Given the description of an element on the screen output the (x, y) to click on. 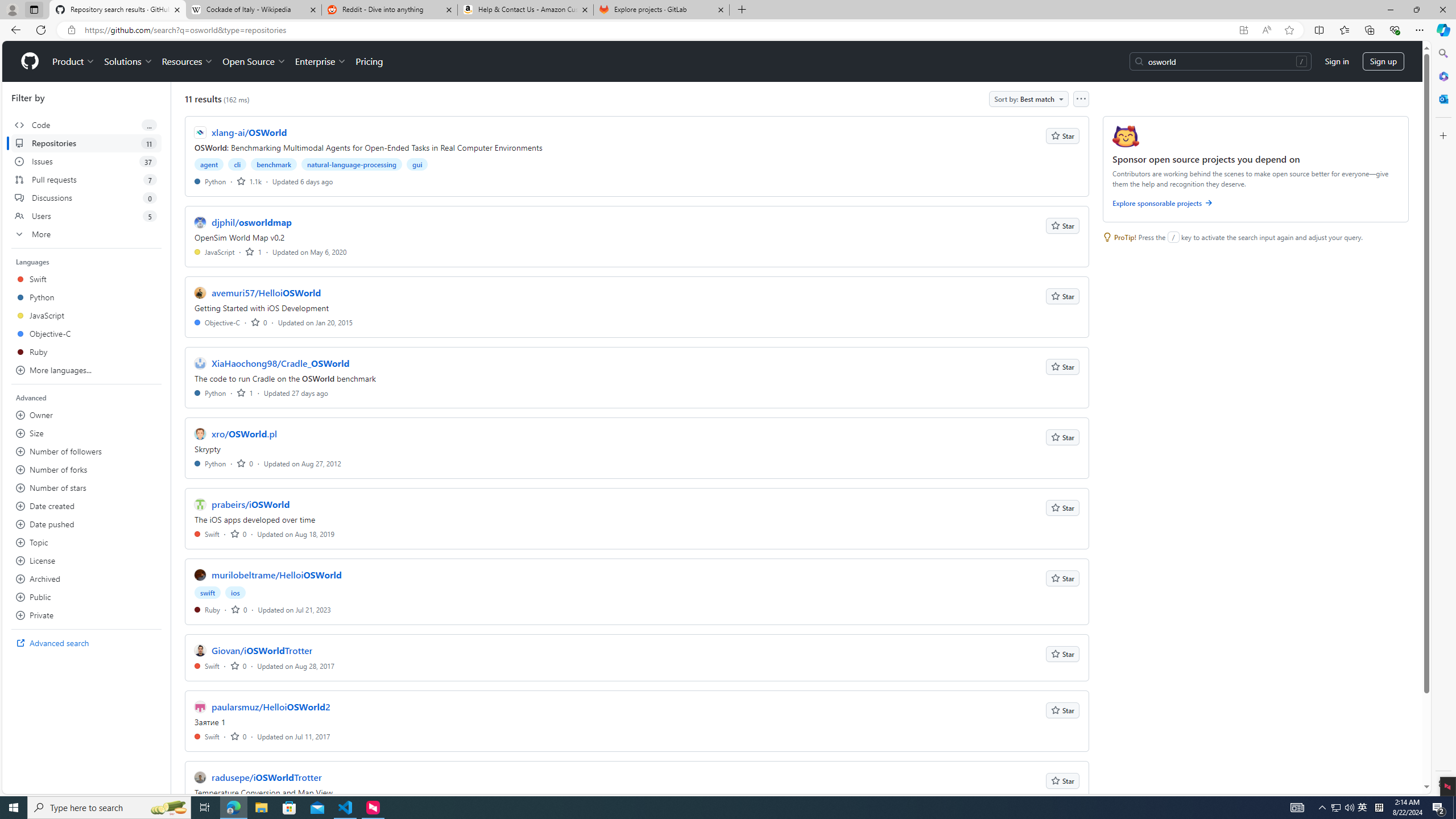
Ruby (207, 609)
Search (1442, 53)
Advanced search (86, 642)
murilobeltrame/HelloiOSWorld (276, 574)
Browser essentials (1394, 29)
